Given the description of an element on the screen output the (x, y) to click on. 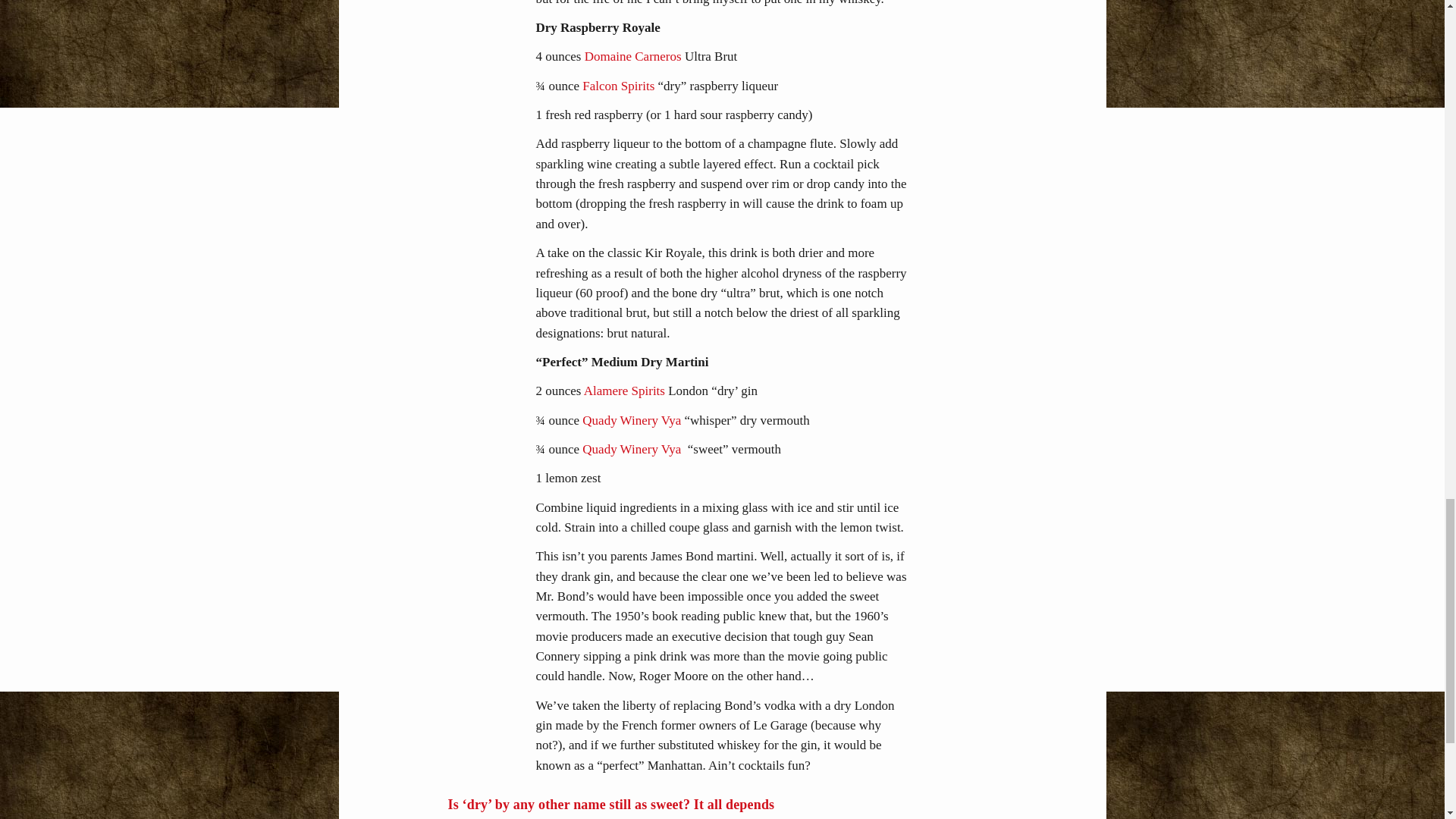
Domaine Carneros (633, 56)
Quady Winery Vya (633, 420)
Quady Winery Vya (633, 449)
Alamere Spirits (624, 391)
Falcon Spirits (617, 85)
